Given the description of an element on the screen output the (x, y) to click on. 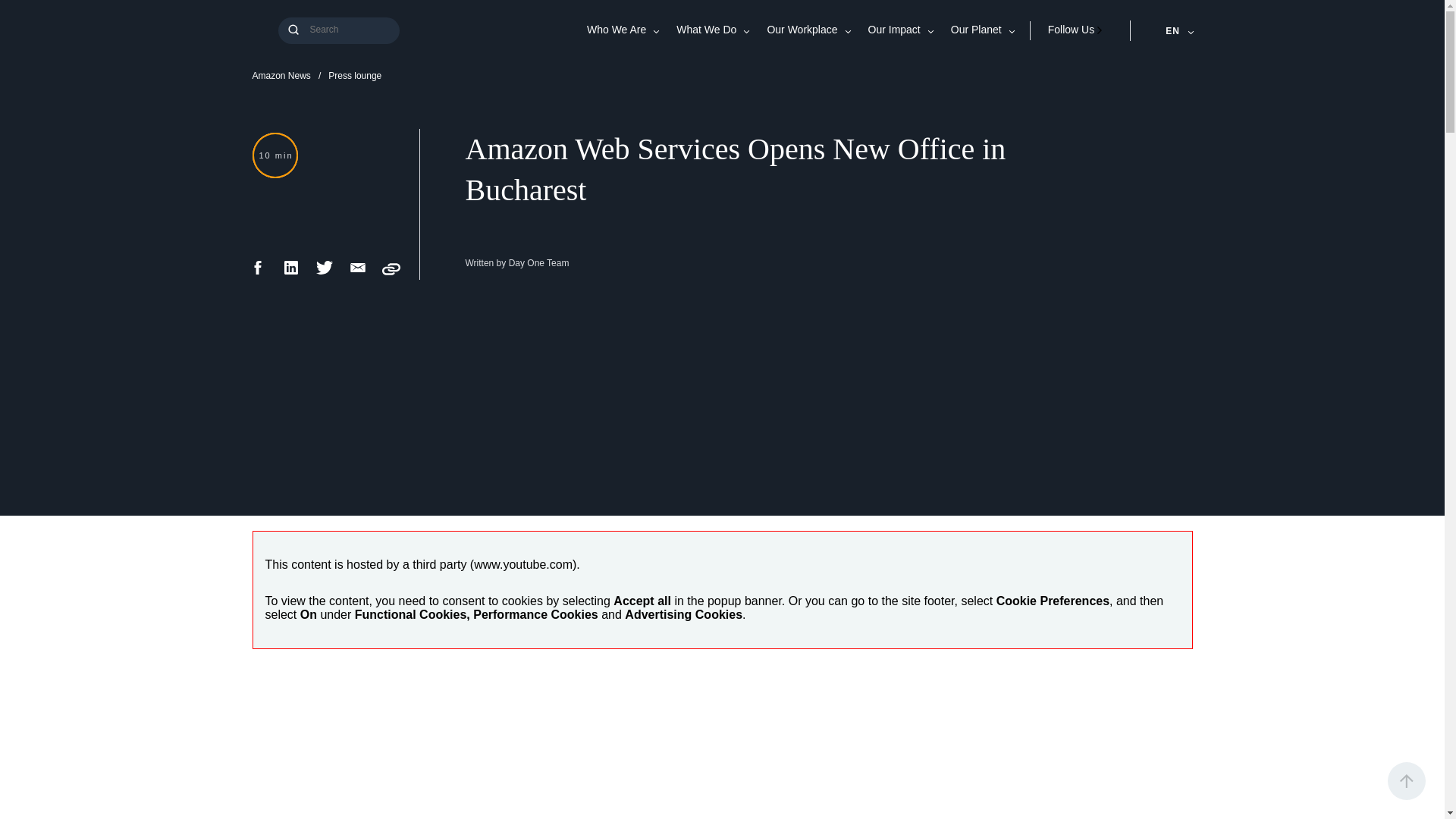
Twitter Share (324, 272)
Facebook Share (257, 272)
Email Share (357, 272)
LinkedIn Share (290, 272)
